Given the description of an element on the screen output the (x, y) to click on. 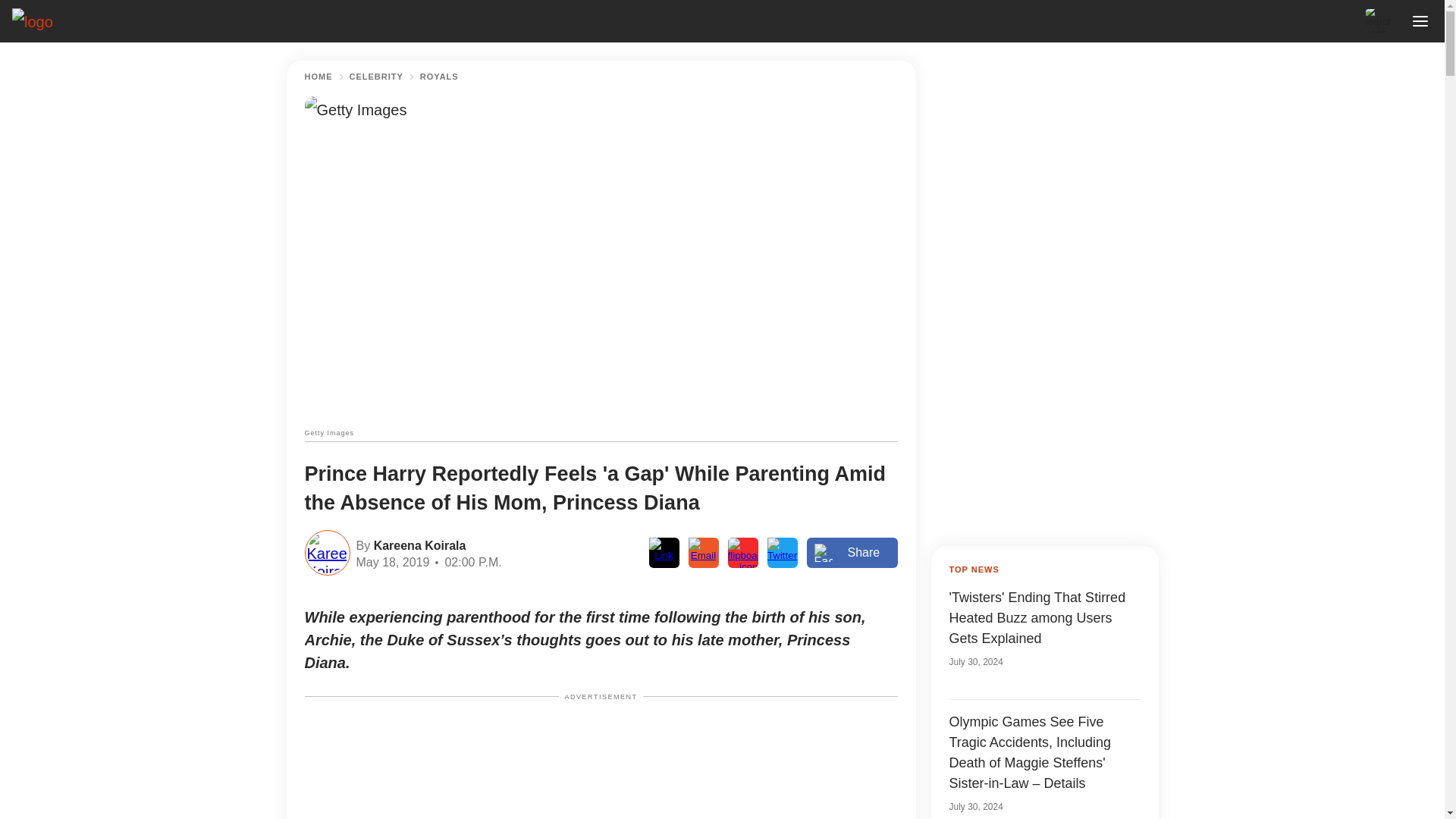
HOME (318, 76)
ROYALS (439, 76)
Kareena Koirala (417, 544)
CELEBRITY (376, 76)
